Given the description of an element on the screen output the (x, y) to click on. 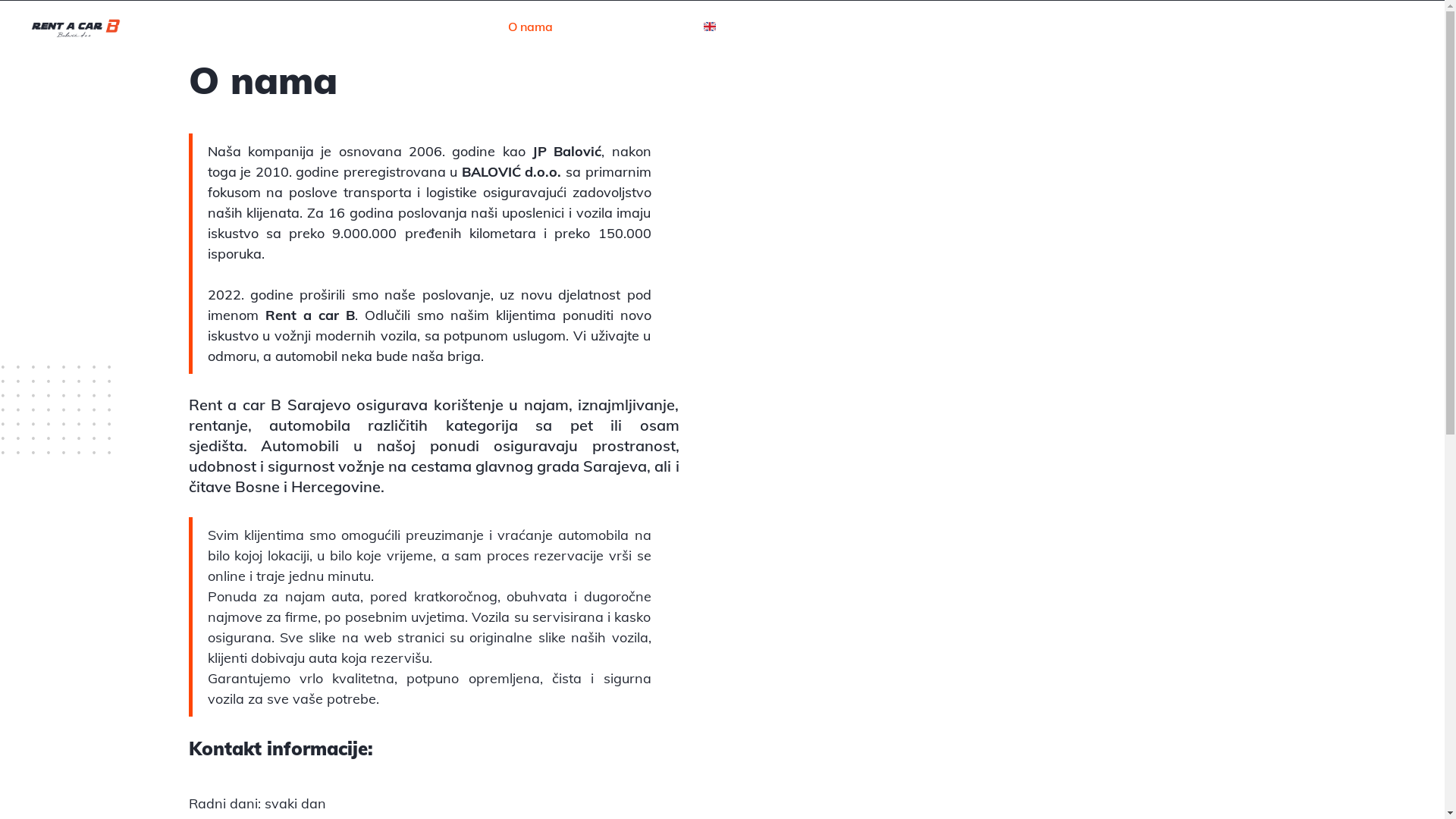
Automobili  Element type: text (306, 445)
